Given the description of an element on the screen output the (x, y) to click on. 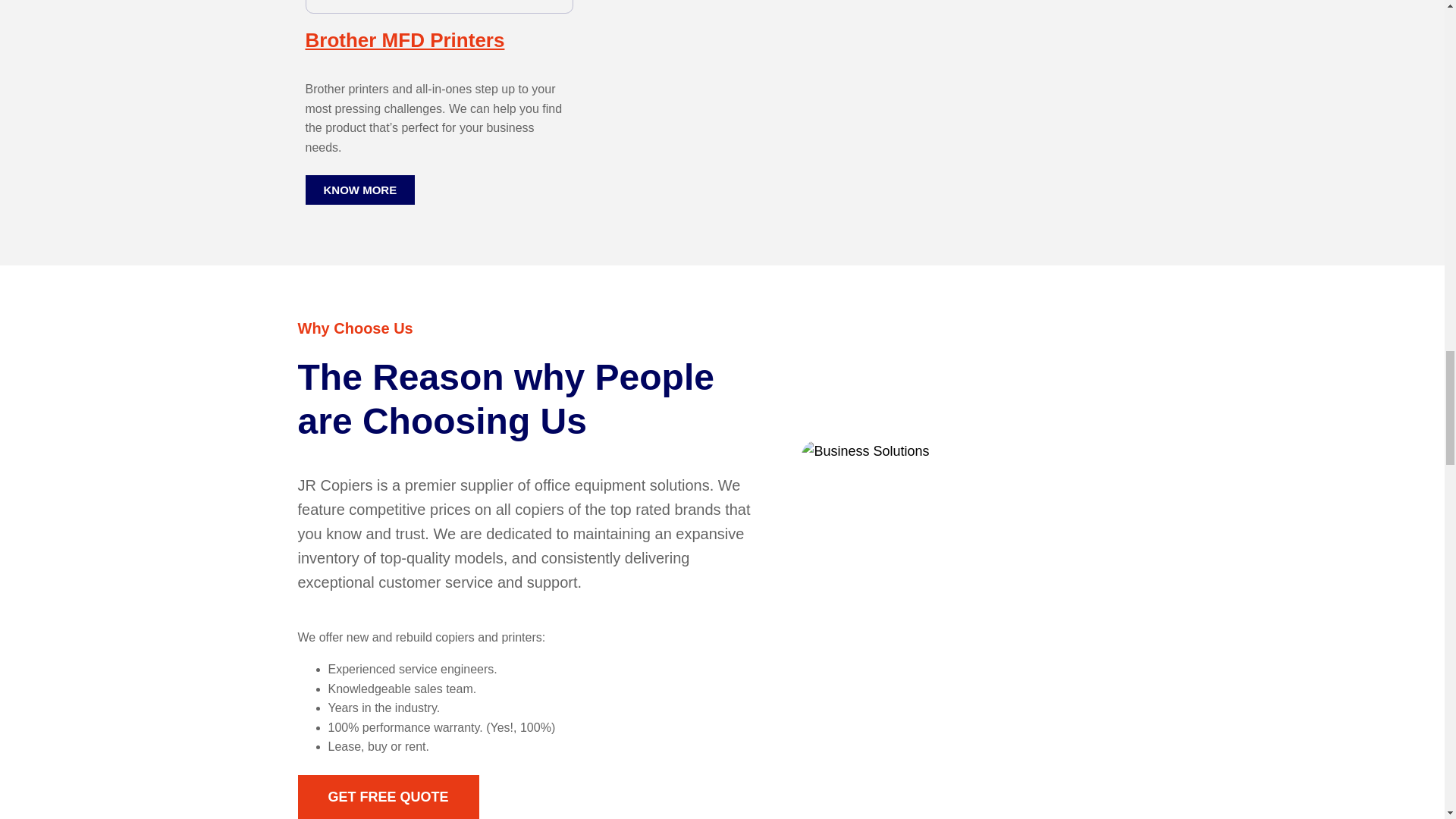
Brother MFD Printers (403, 39)
KNOW MORE (359, 189)
GET FREE QUOTE (388, 796)
